Given the description of an element on the screen output the (x, y) to click on. 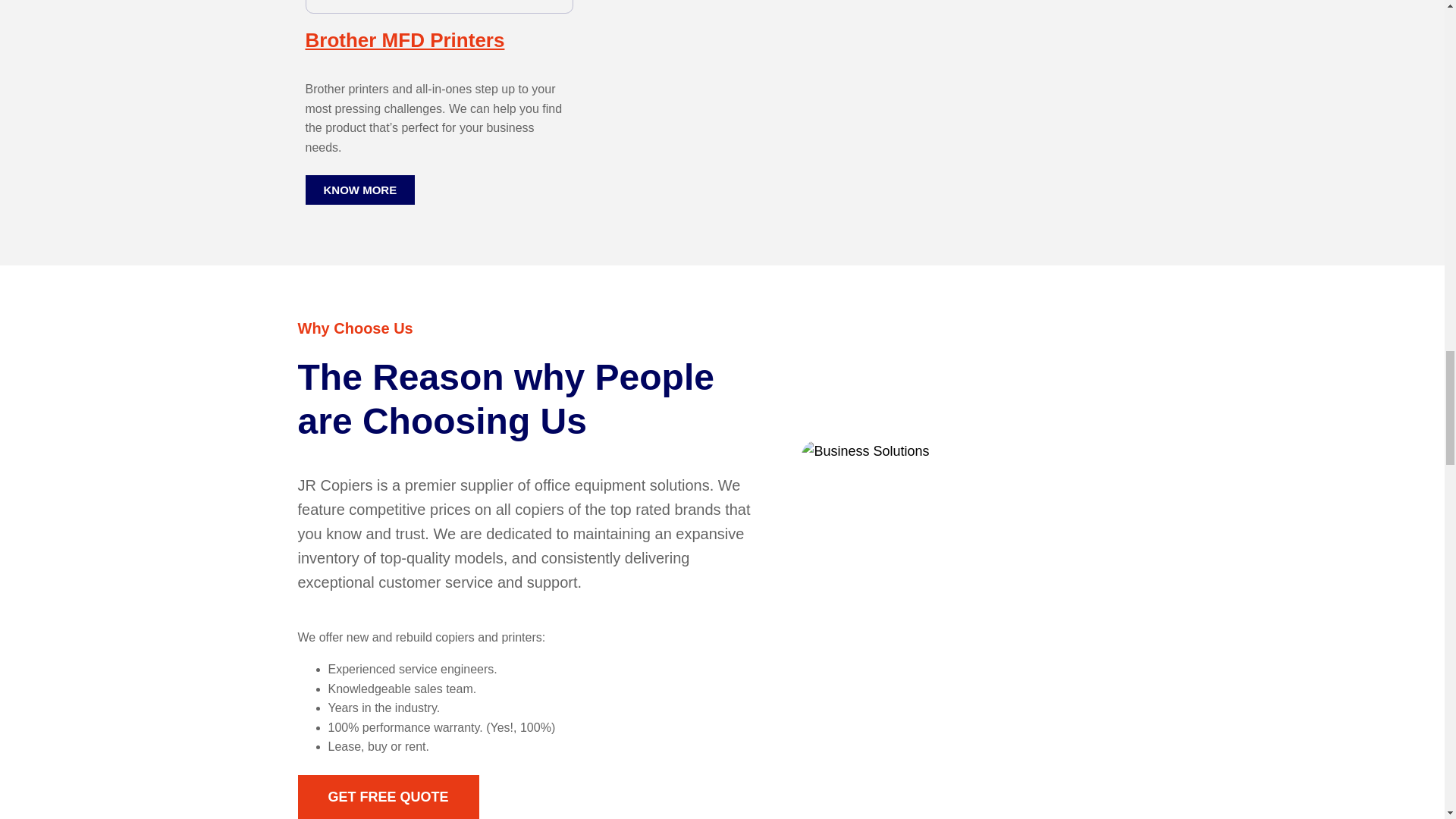
Brother MFD Printers (403, 39)
KNOW MORE (359, 189)
GET FREE QUOTE (388, 796)
